Given the description of an element on the screen output the (x, y) to click on. 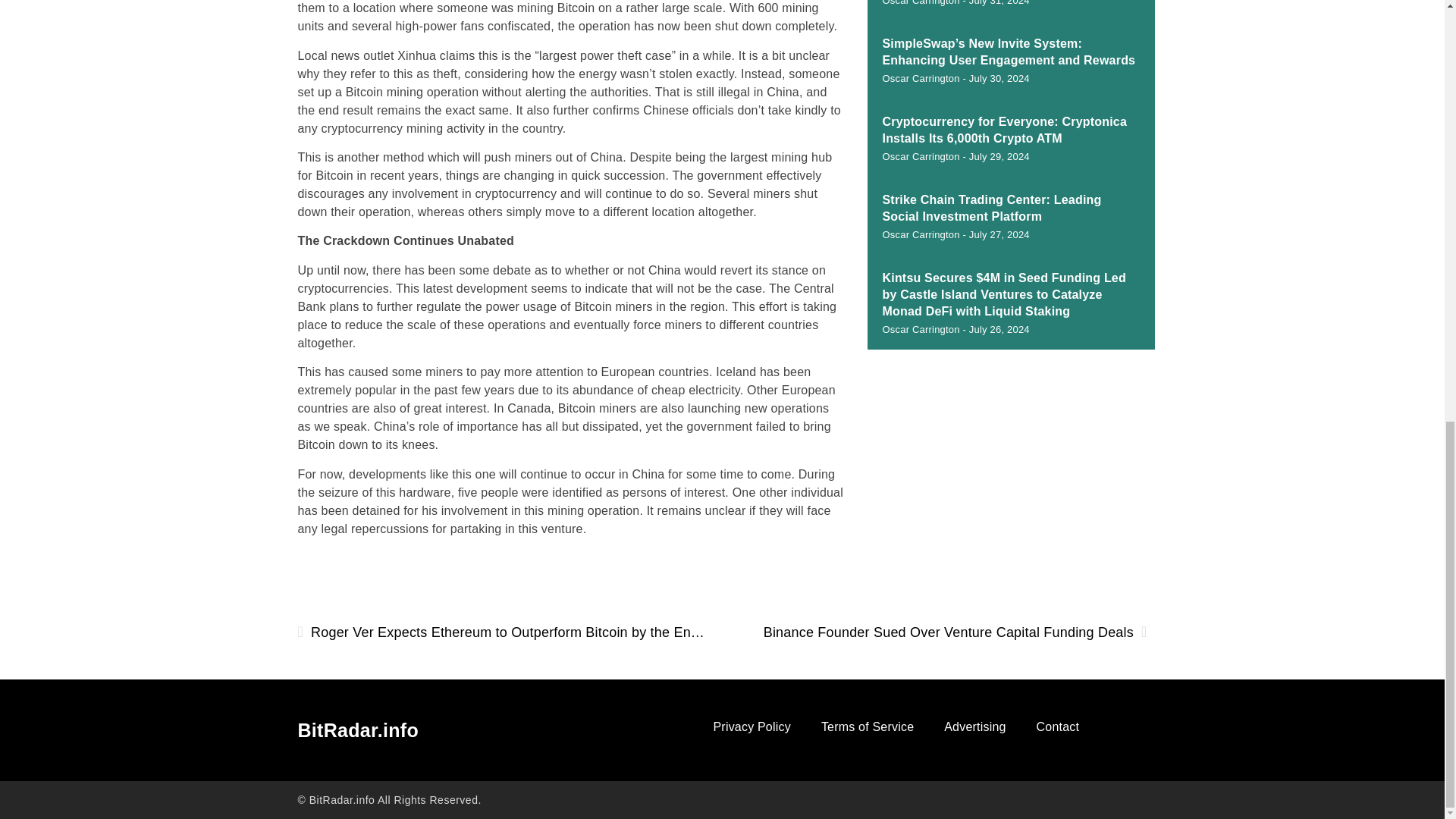
Terms of Service (867, 727)
Privacy Policy (751, 727)
Binance Founder Sued Over Venture Capital Funding Deals (941, 632)
Contact (1058, 727)
Advertising (974, 727)
